Given the description of an element on the screen output the (x, y) to click on. 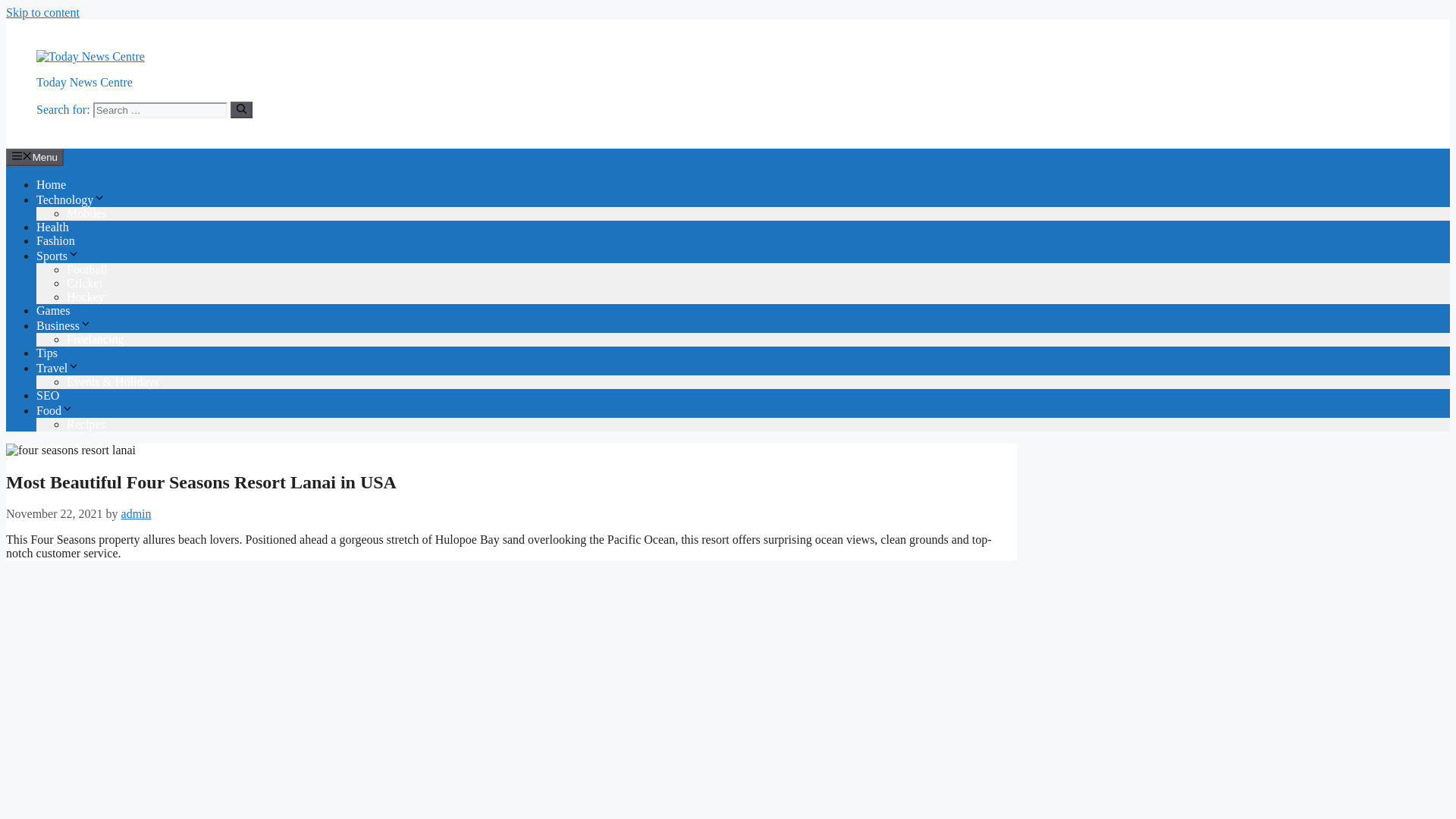
Recipes (85, 423)
Fashion (55, 240)
Travel (58, 367)
Cricket (83, 282)
Skip to content (42, 11)
Menu (34, 156)
admin (135, 513)
View all posts by admin (135, 513)
Technology (70, 199)
Today News Centre (84, 82)
